Given the description of an element on the screen output the (x, y) to click on. 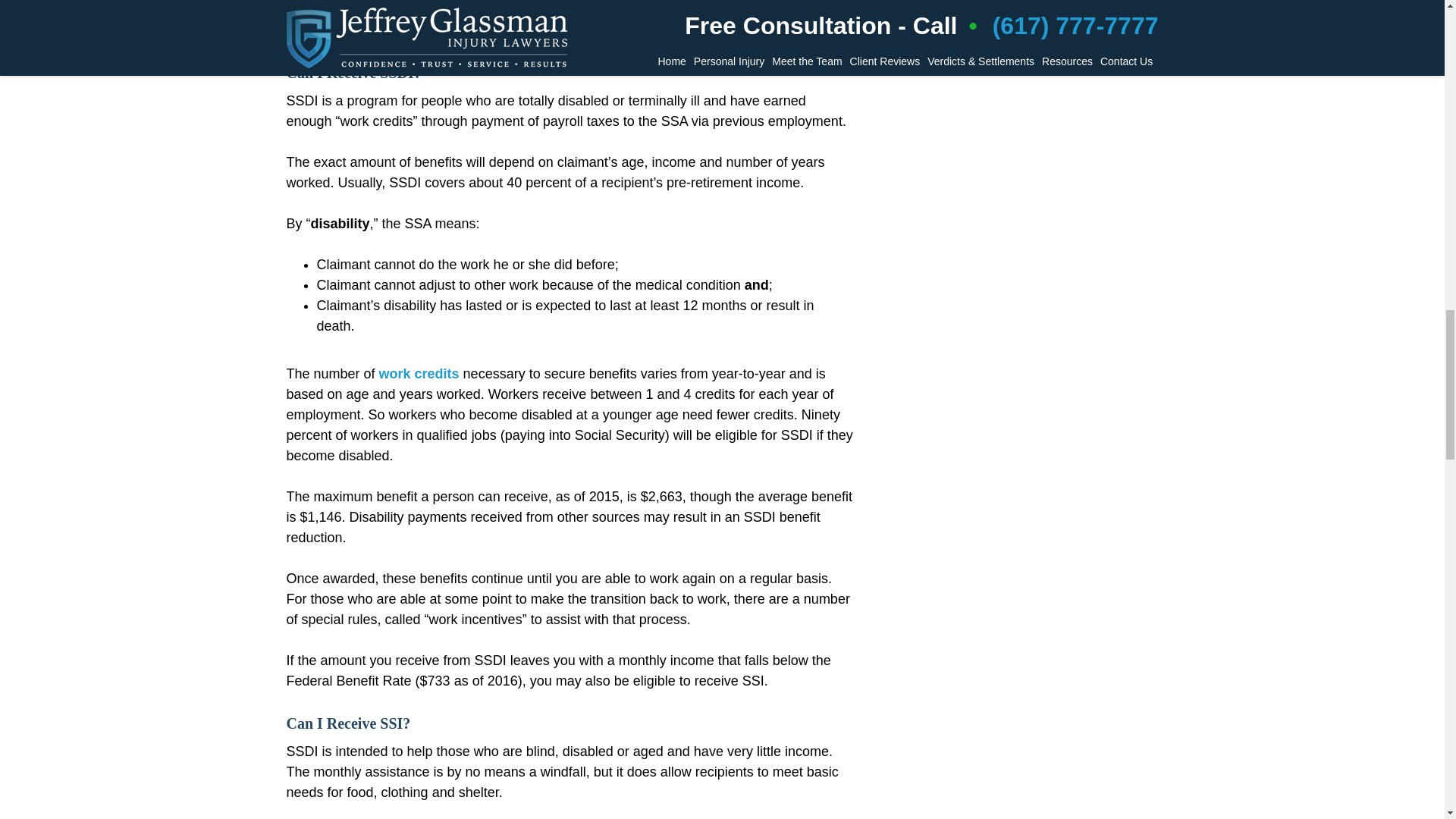
work credits (419, 373)
